Given the description of an element on the screen output the (x, y) to click on. 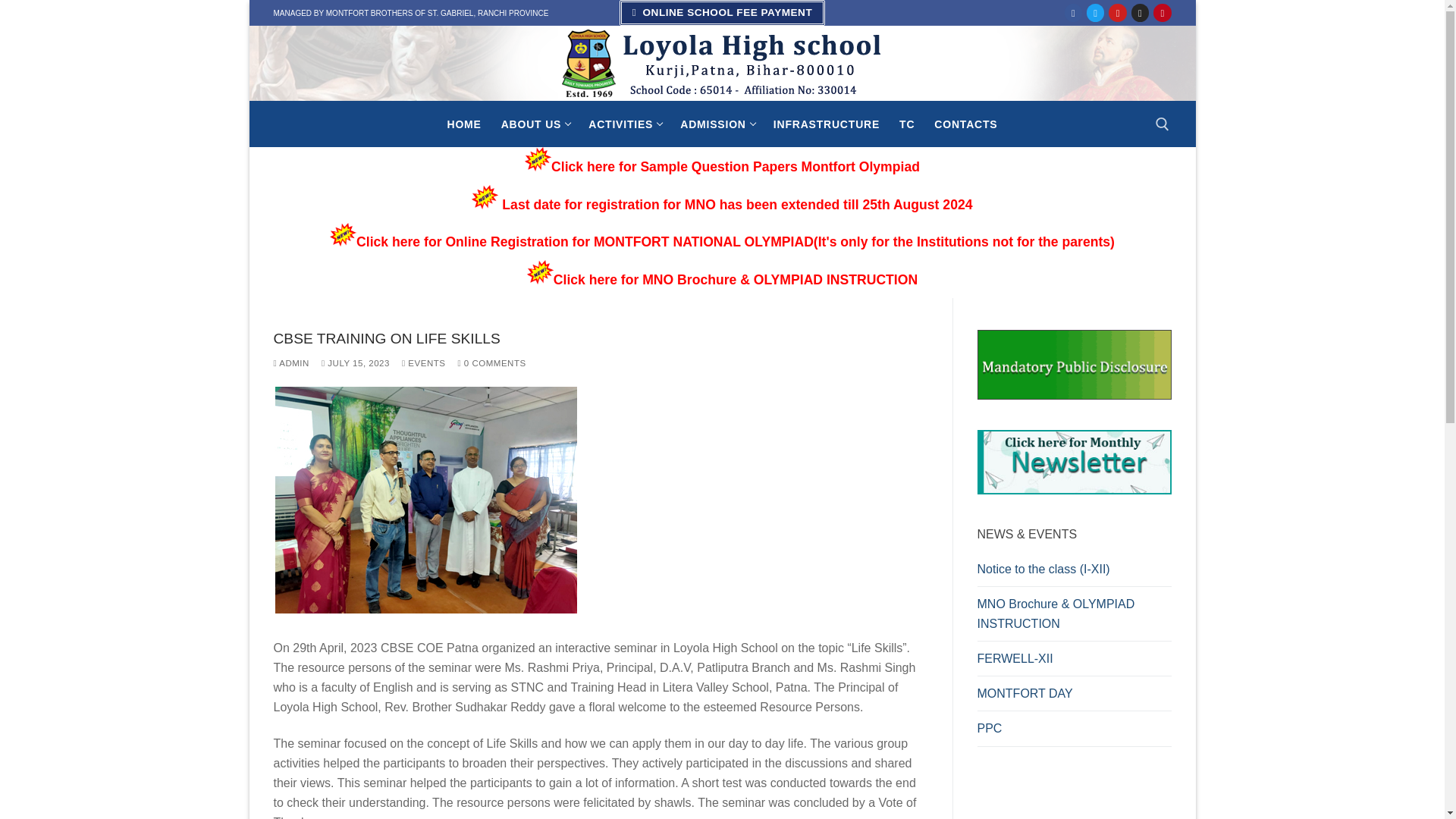
ONLINE SCHOOL FEE PAYMENT (722, 12)
Pinterest (1162, 13)
Instagram (1139, 13)
Twitter (715, 123)
ADMIN (1095, 13)
HOME (290, 362)
INFRASTRUCTURE (463, 123)
Facebook (825, 123)
